Given the description of an element on the screen output the (x, y) to click on. 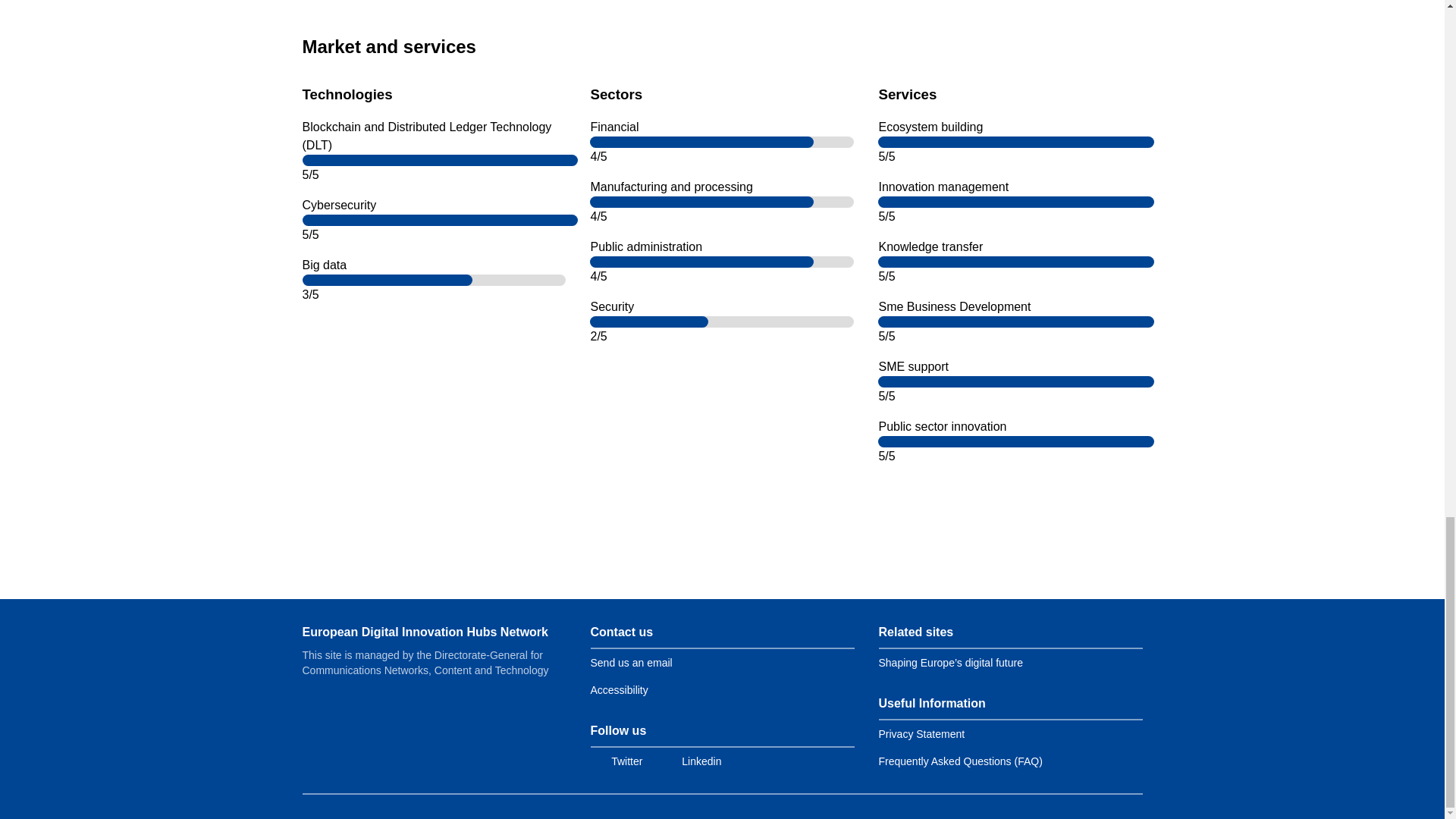
Privacy Statement (920, 734)
Linkedin (690, 761)
Twitter (615, 761)
Send us an email (630, 662)
Accessibility (618, 689)
